Given the description of an element on the screen output the (x, y) to click on. 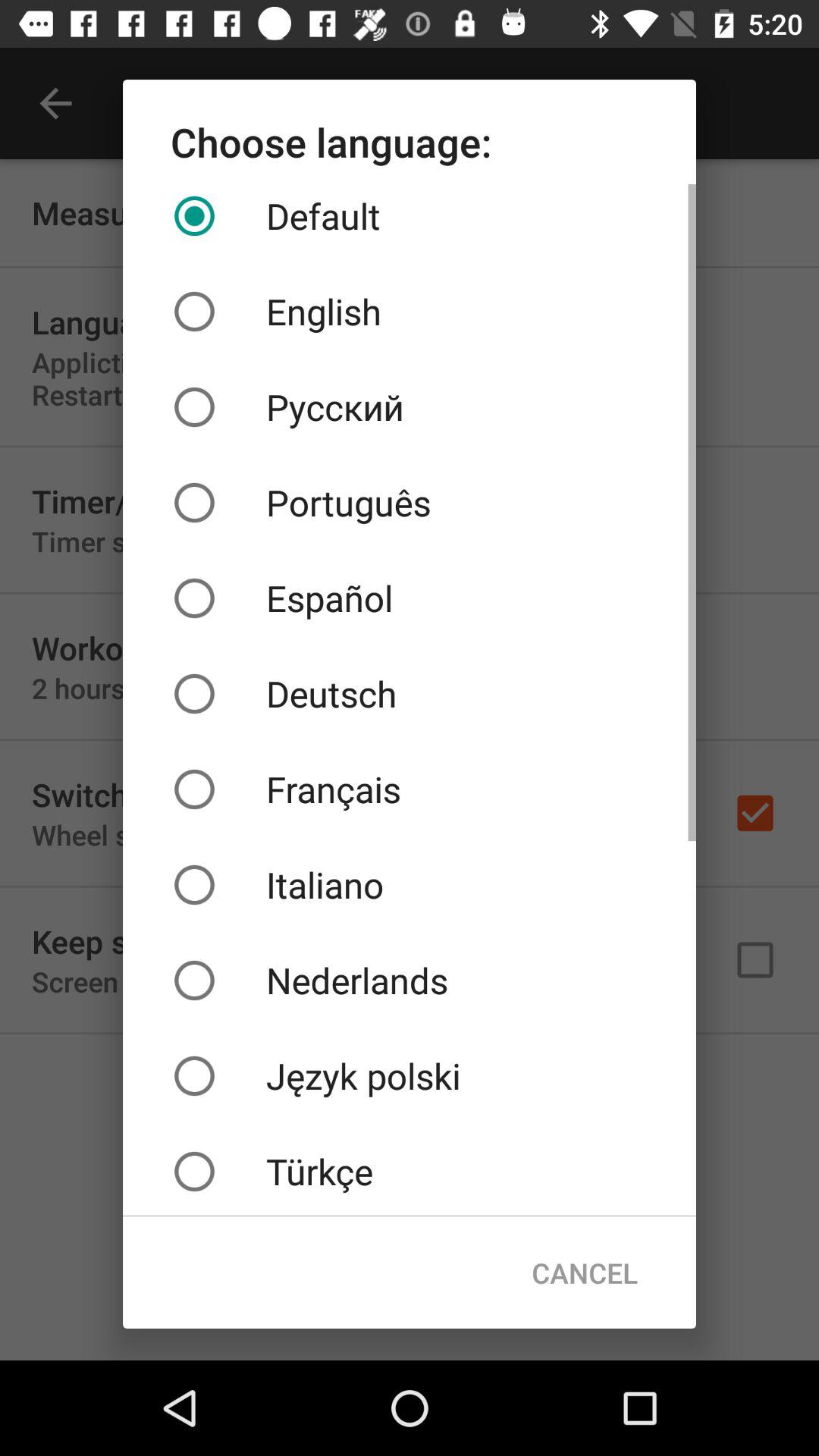
launch the icon at the bottom right corner (584, 1272)
